Given the description of an element on the screen output the (x, y) to click on. 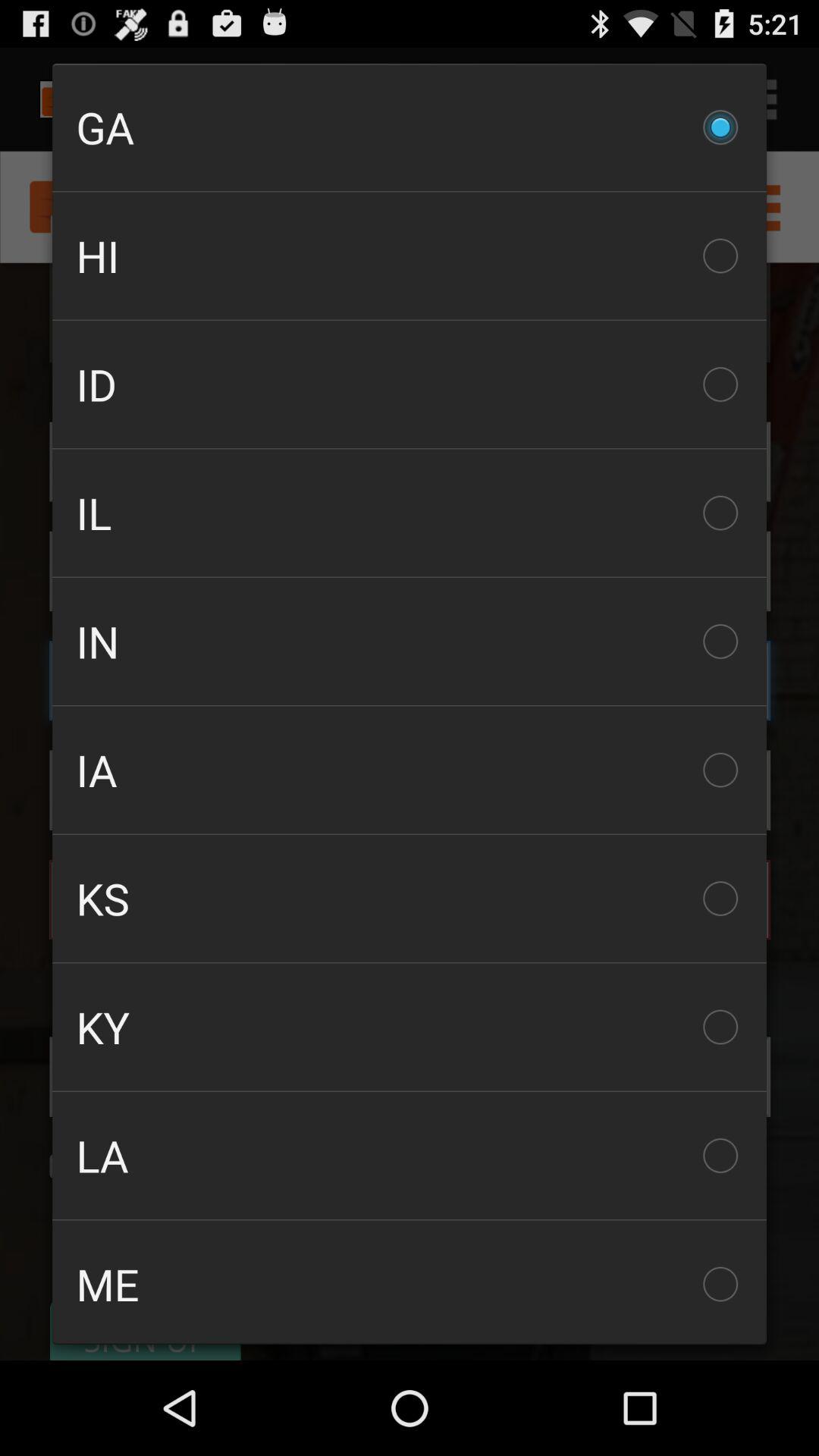
click checkbox above the il icon (409, 384)
